Given the description of an element on the screen output the (x, y) to click on. 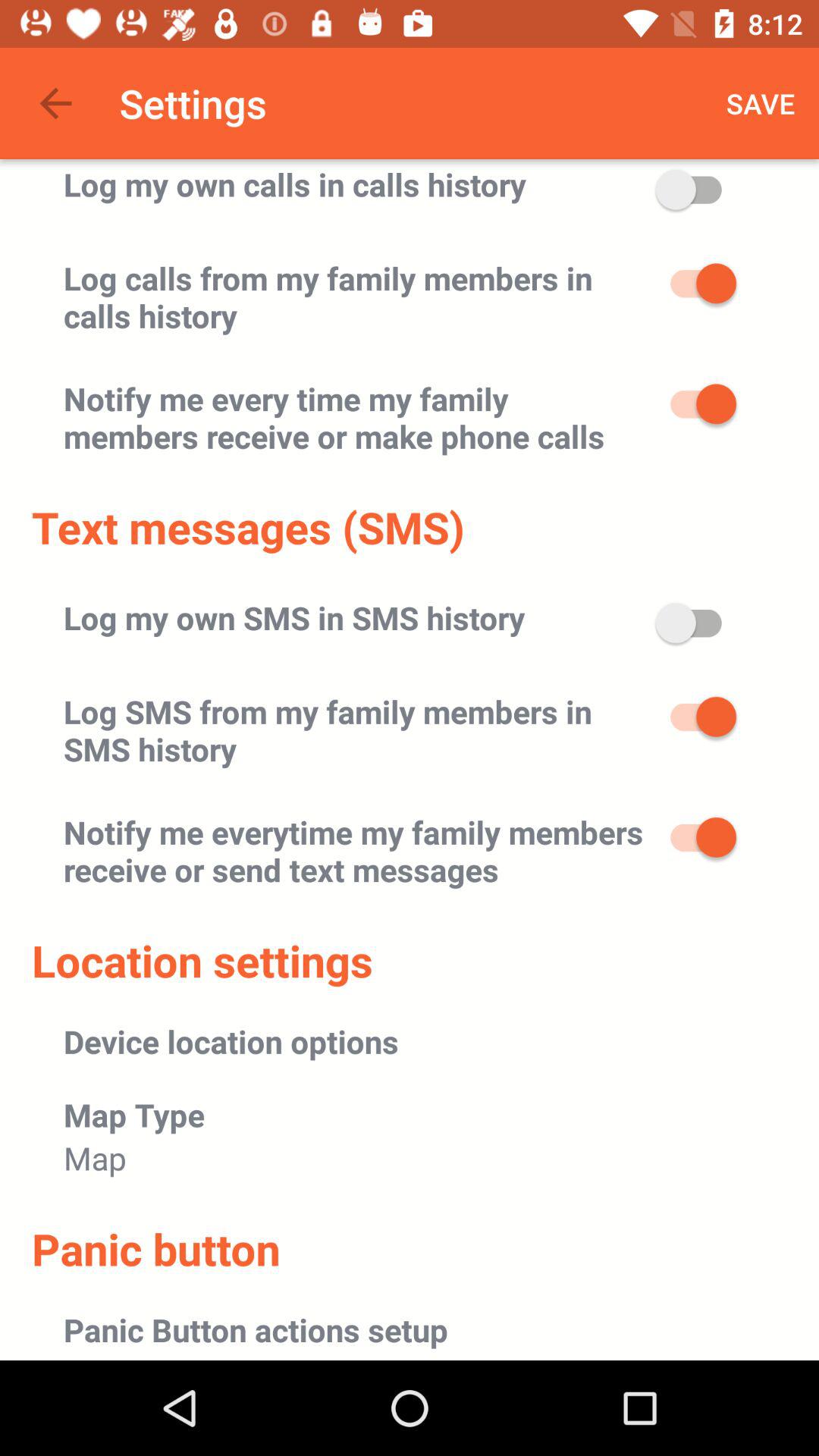
launch app to the left of the settings (55, 103)
